Given the description of an element on the screen output the (x, y) to click on. 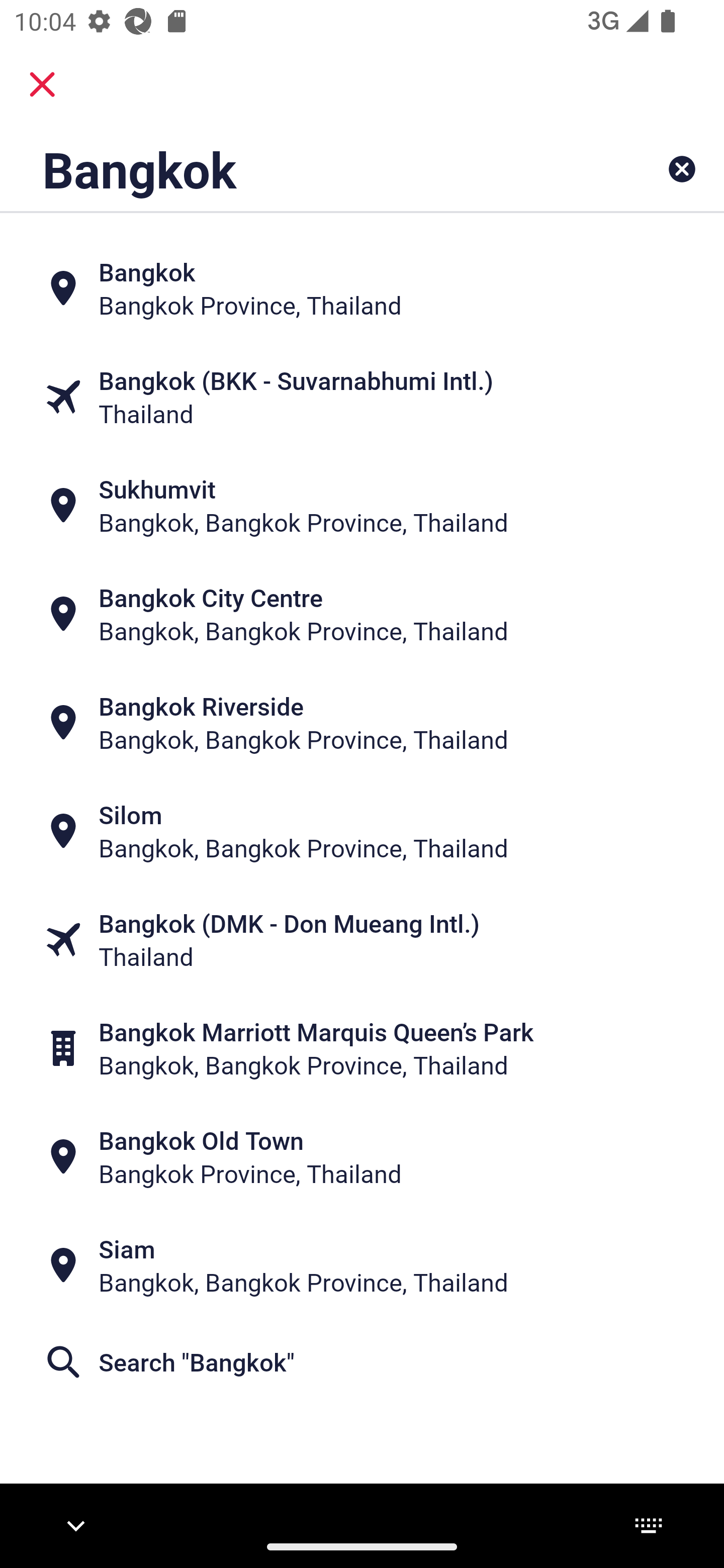
close. (42, 84)
Clear (681, 169)
Bangkok (298, 169)
Bangkok Bangkok Province, Thailand (362, 288)
Bangkok (BKK - Suvarnabhumi Intl.) Thailand (362, 397)
Sukhumvit Bangkok, Bangkok Province, Thailand (362, 505)
Silom Bangkok, Bangkok Province, Thailand (362, 831)
Bangkok (DMK - Don Mueang Intl.) Thailand (362, 939)
Bangkok Old Town Bangkok Province, Thailand (362, 1156)
Siam Bangkok, Bangkok Province, Thailand (362, 1265)
Search "Bangkok" (361, 1362)
